Given the description of an element on the screen output the (x, y) to click on. 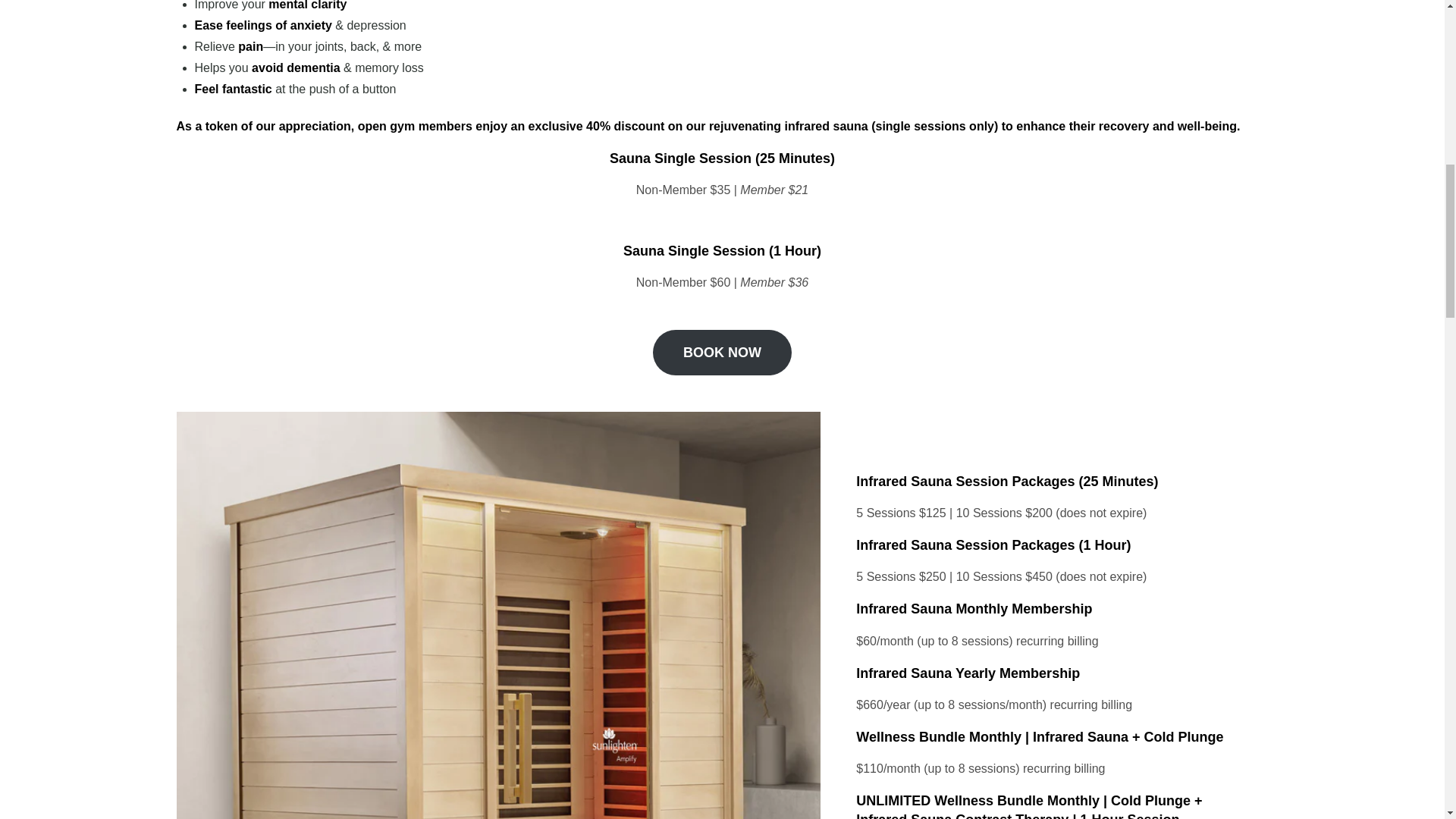
BOOK NOW (722, 352)
